Given the description of an element on the screen output the (x, y) to click on. 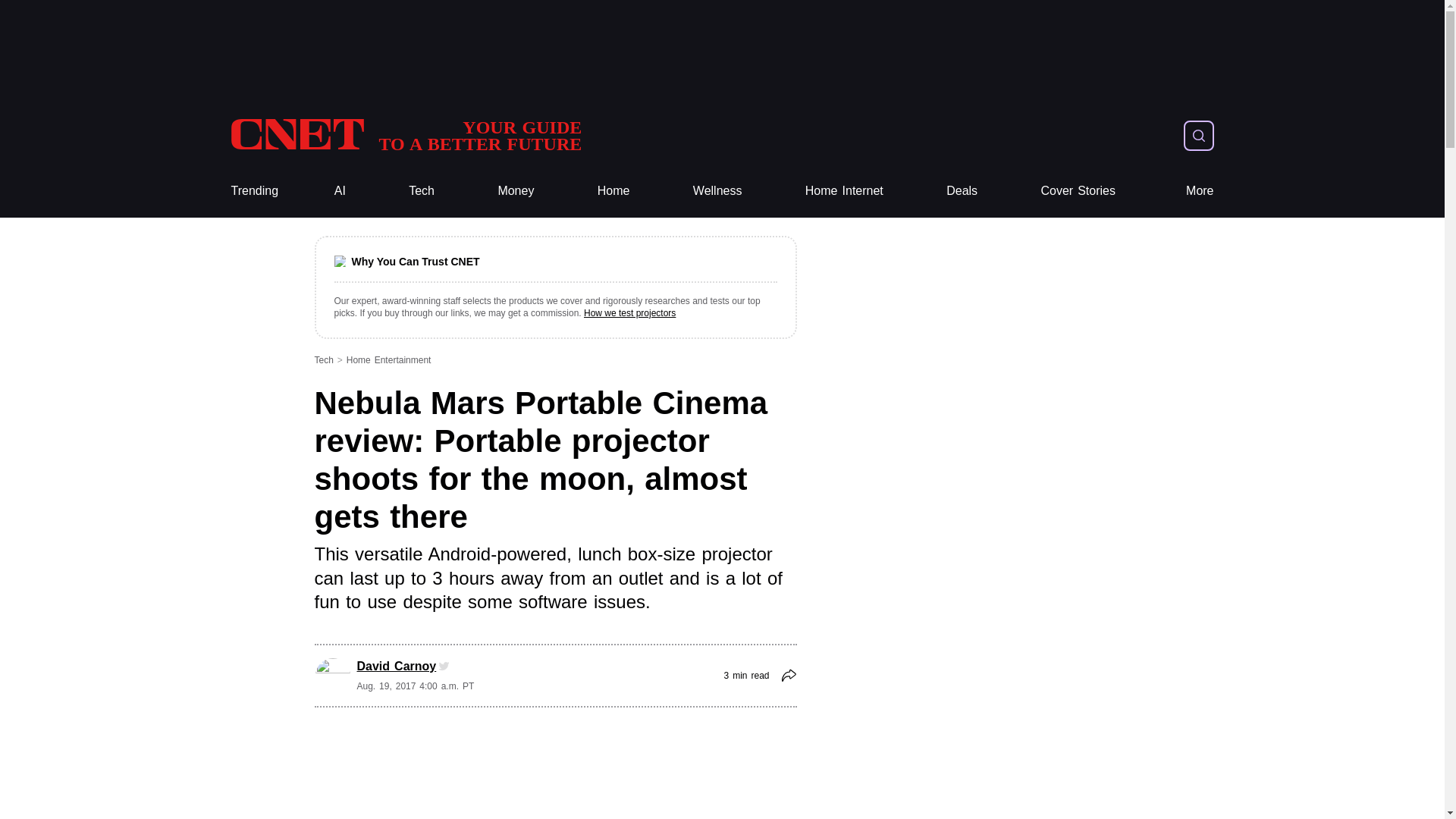
Deals (961, 190)
Money (515, 190)
Home Internet (844, 190)
Home Internet (844, 190)
Tech (405, 135)
Money (421, 190)
CNET (515, 190)
Tech (405, 135)
Trending (421, 190)
